Given the description of an element on the screen output the (x, y) to click on. 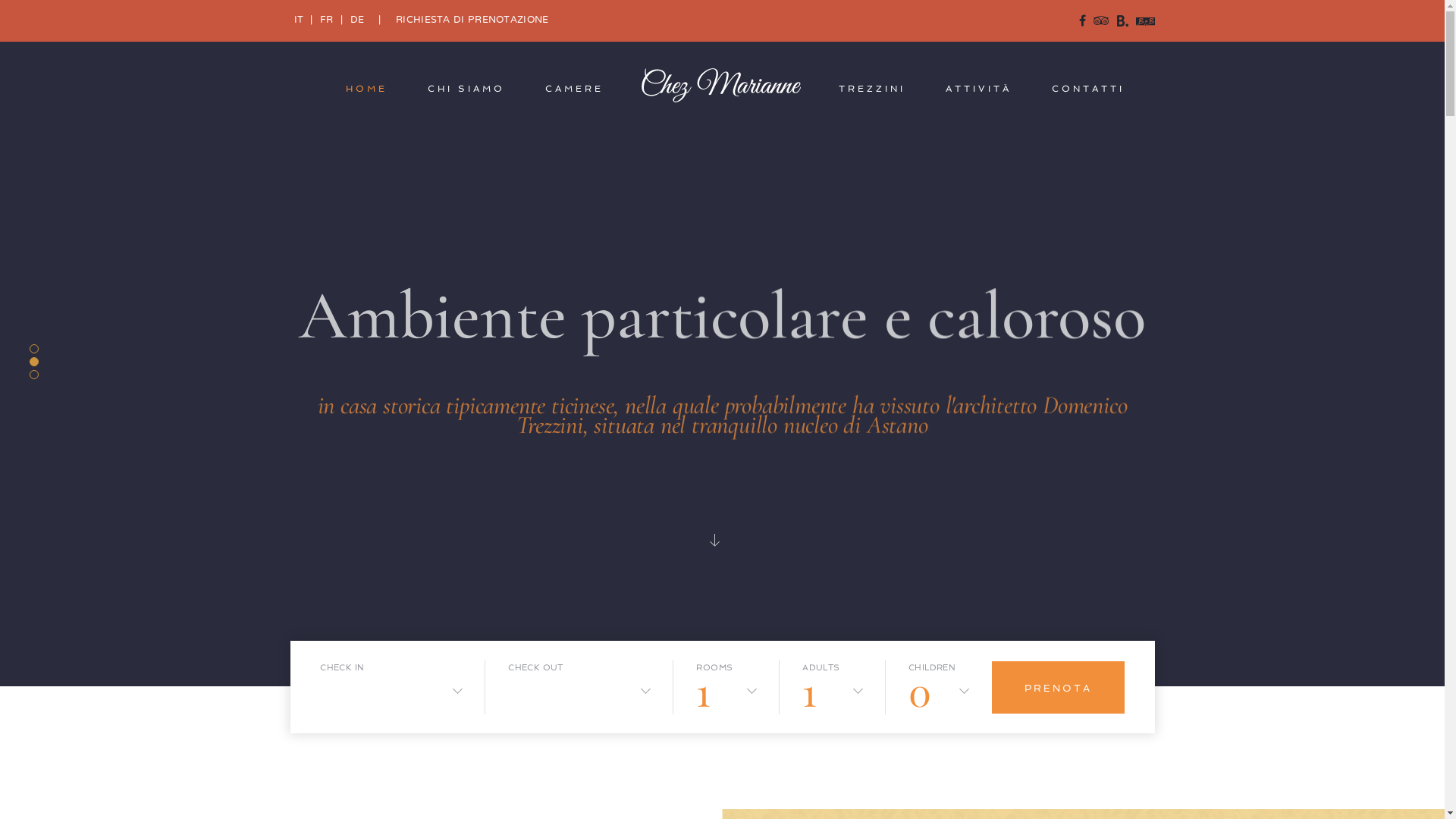
HOME Element type: text (366, 88)
FR Element type: text (326, 20)
PRENOTA Element type: text (1057, 687)
IT Element type: text (299, 20)
  Element type: text (721, 545)
TREZZINI Element type: text (871, 88)
DE Element type: text (357, 20)
CAMERE Element type: text (574, 88)
CONTATTI Element type: text (1087, 88)
RICHIESTA DI PRENOTAZIONE Element type: text (472, 20)
CHI SIAMO Element type: text (466, 88)
